Given the description of an element on the screen output the (x, y) to click on. 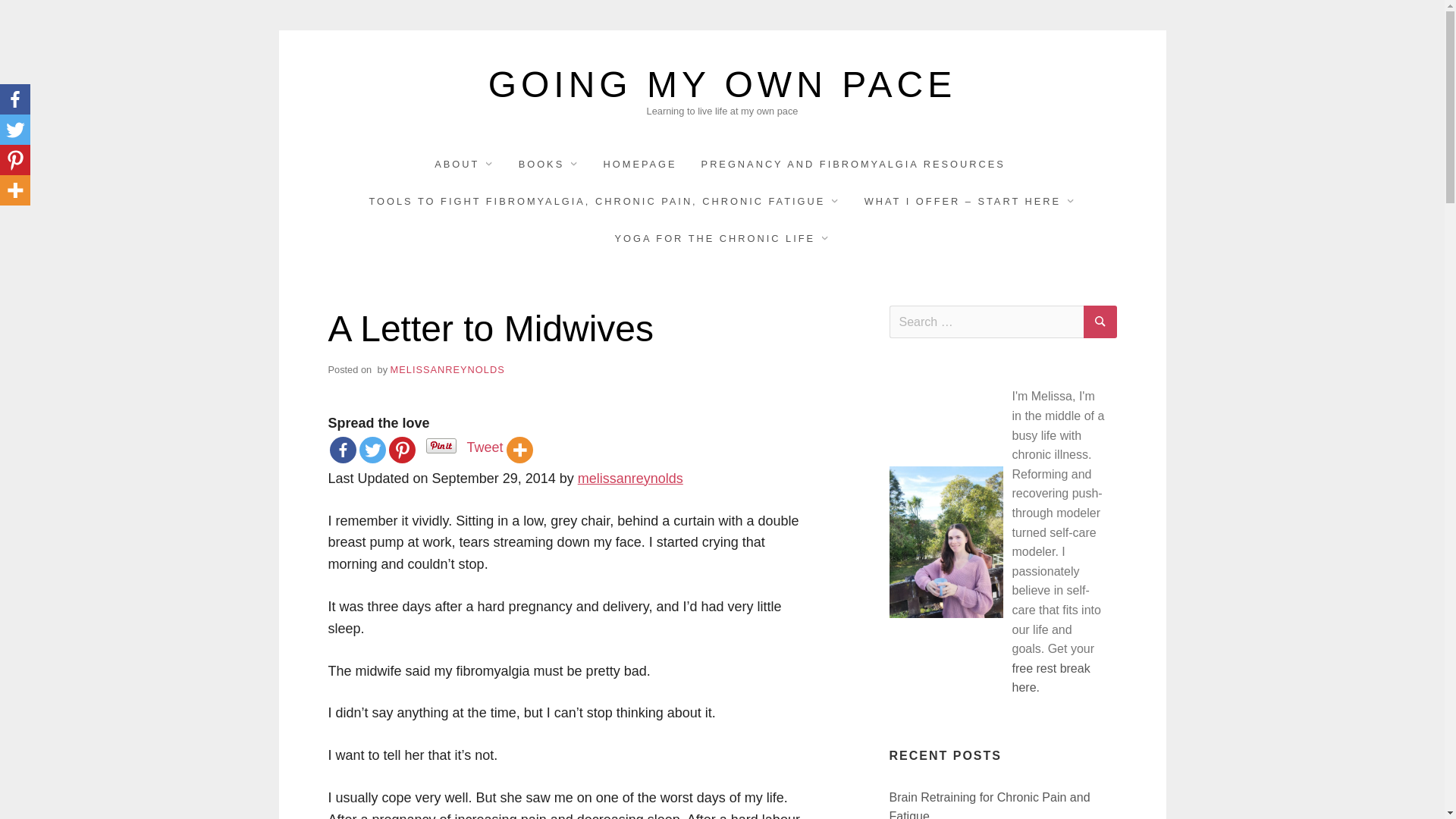
More (519, 449)
GOING MY OWN PACE (721, 84)
BOOKS (548, 163)
Twitter (15, 129)
HOMEPAGE (639, 163)
Facebook (342, 449)
More (15, 190)
Facebook (15, 99)
Pinterest (401, 449)
YOGA FOR THE CHRONIC LIFE (722, 238)
MELISSANREYNOLDS (447, 369)
Twitter (372, 449)
Pinterest (15, 159)
TOOLS TO FIGHT FIBROMYALGIA, CHRONIC PAIN, CHRONIC FATIGUE (604, 200)
